Given the description of an element on the screen output the (x, y) to click on. 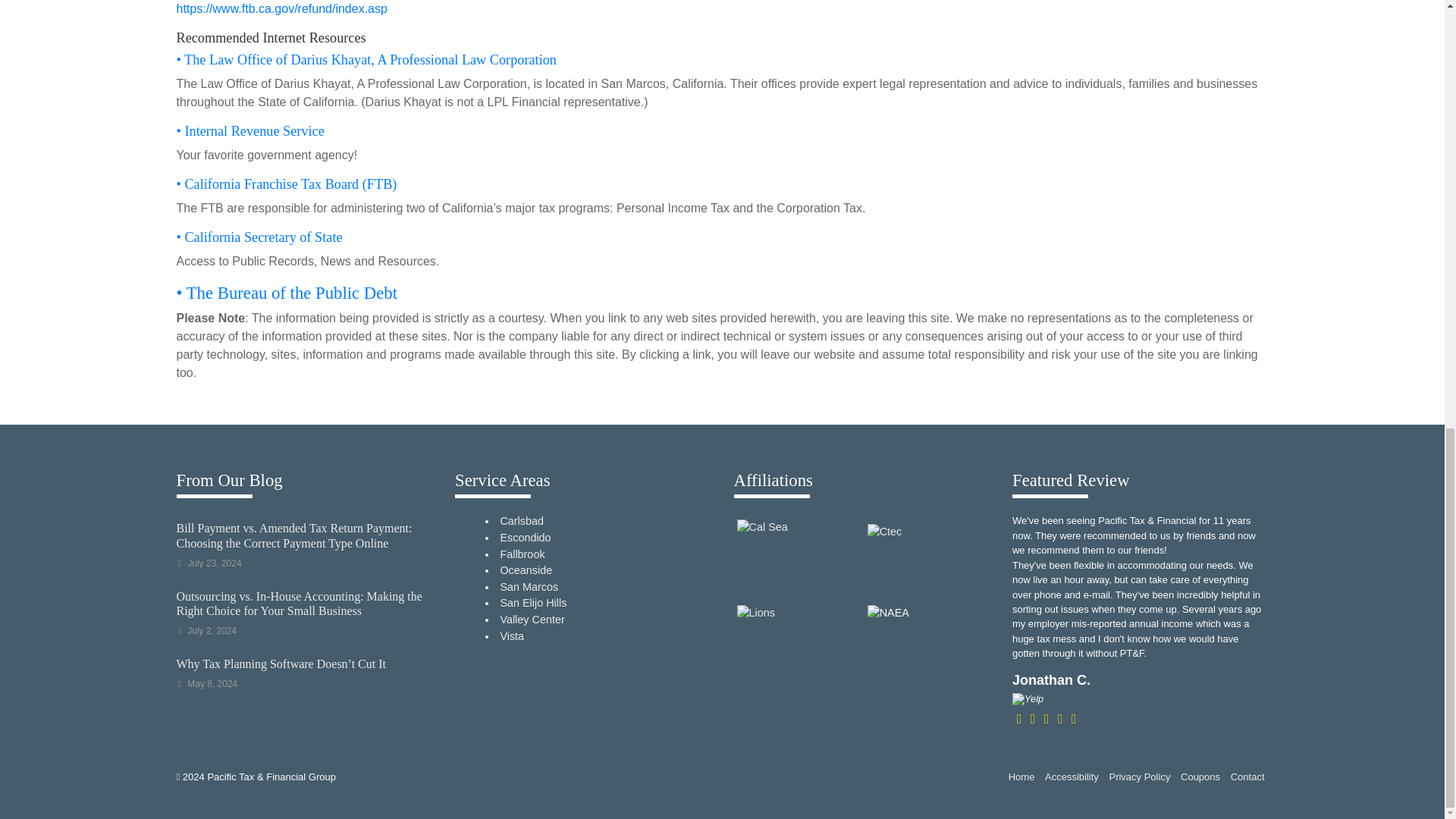
Ctec (927, 555)
Cal Sea (796, 556)
Lions (796, 641)
Naea (927, 641)
